Given the description of an element on the screen output the (x, y) to click on. 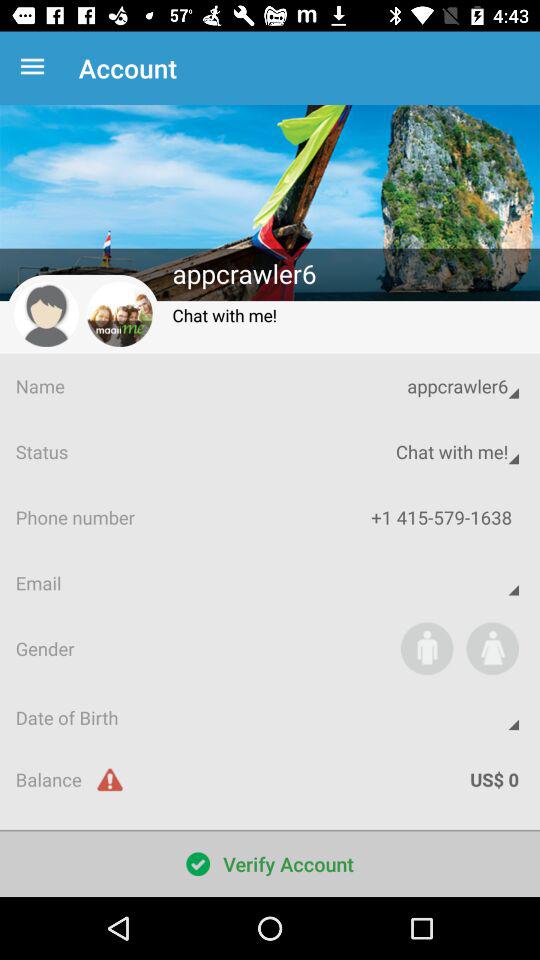
identify as male button (426, 648)
